Given the description of an element on the screen output the (x, y) to click on. 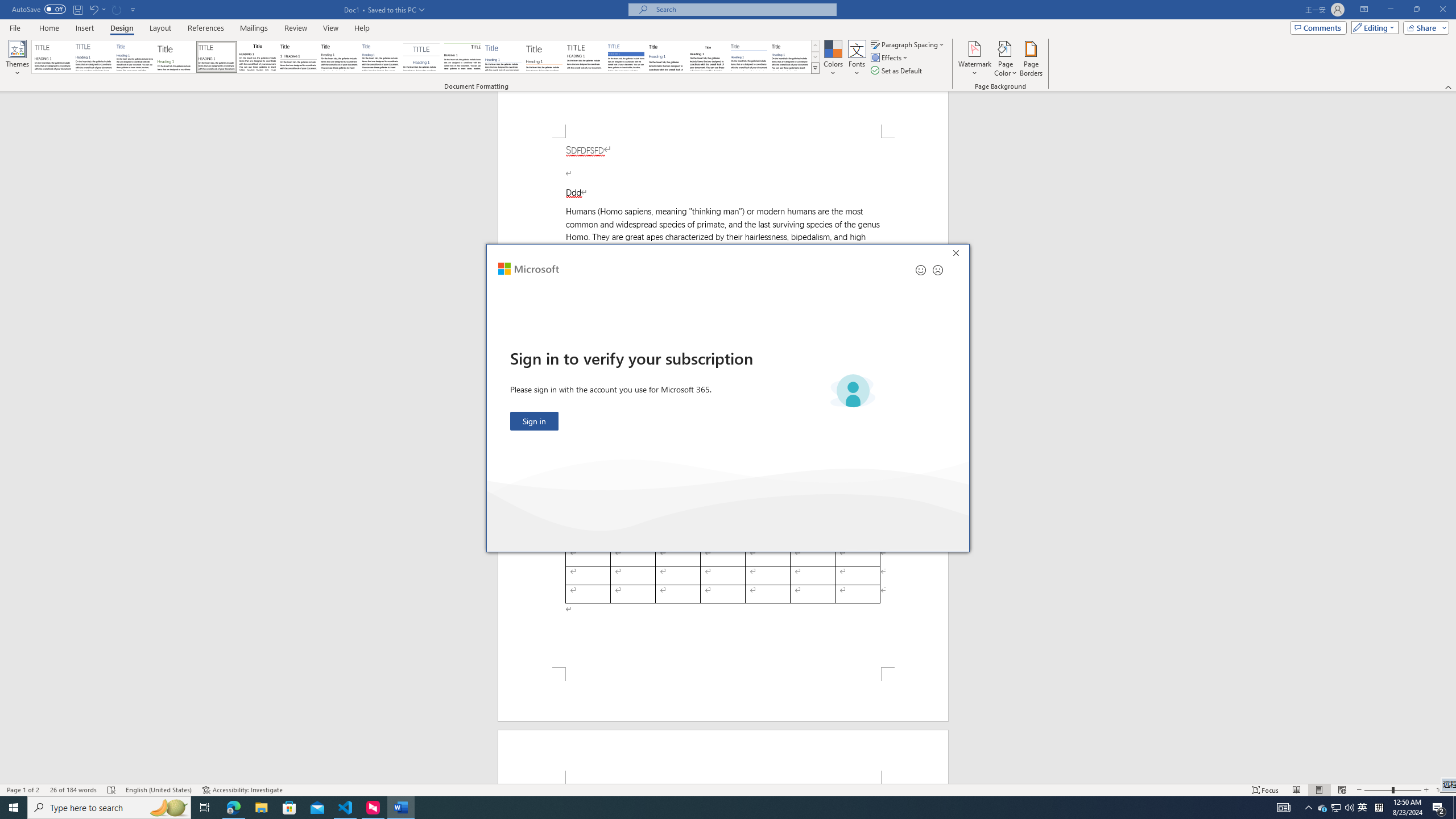
File Explorer (261, 807)
User Promoted Notification Area (1336, 807)
Lines (Distinctive) (462, 56)
Lines (Stylish) (544, 56)
Start (13, 807)
Search highlights icon opens search home window (167, 807)
Undo Apply Quick Style Set (92, 9)
Word 2003 (707, 56)
